Given the description of an element on the screen output the (x, y) to click on. 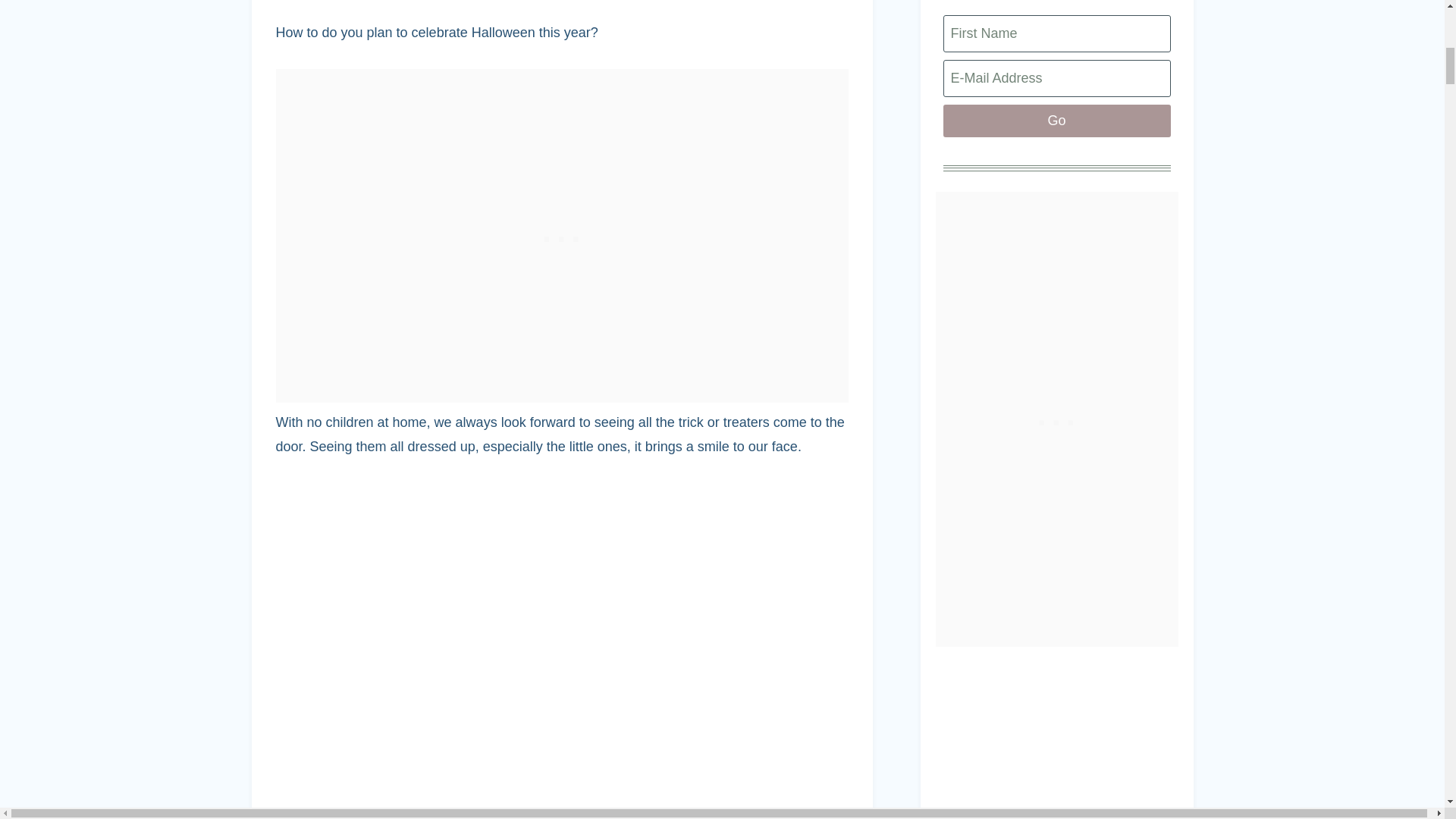
Go (1056, 120)
